Given the description of an element on the screen output the (x, y) to click on. 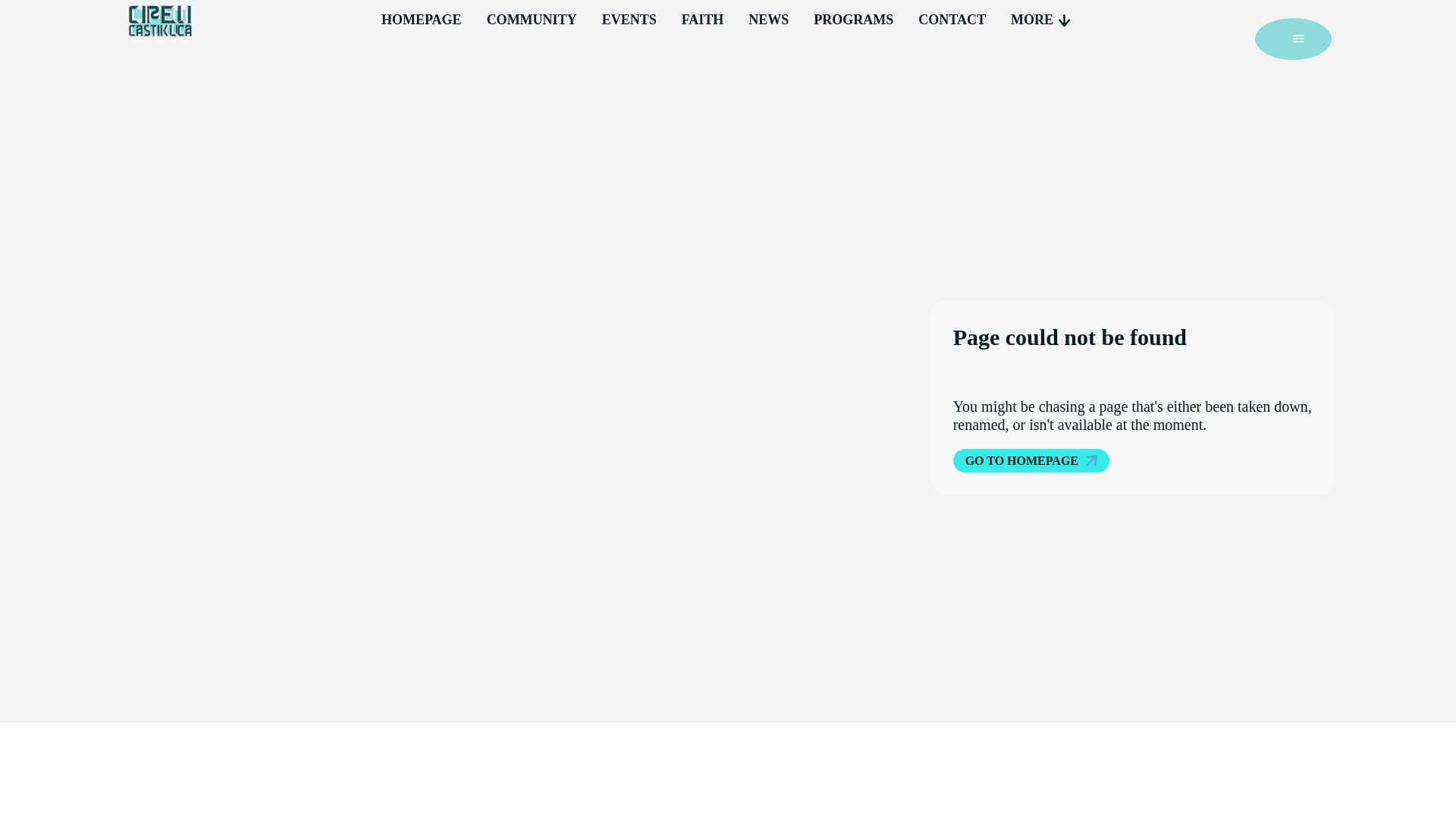
Go to homepage (1031, 460)
